Given the description of an element on the screen output the (x, y) to click on. 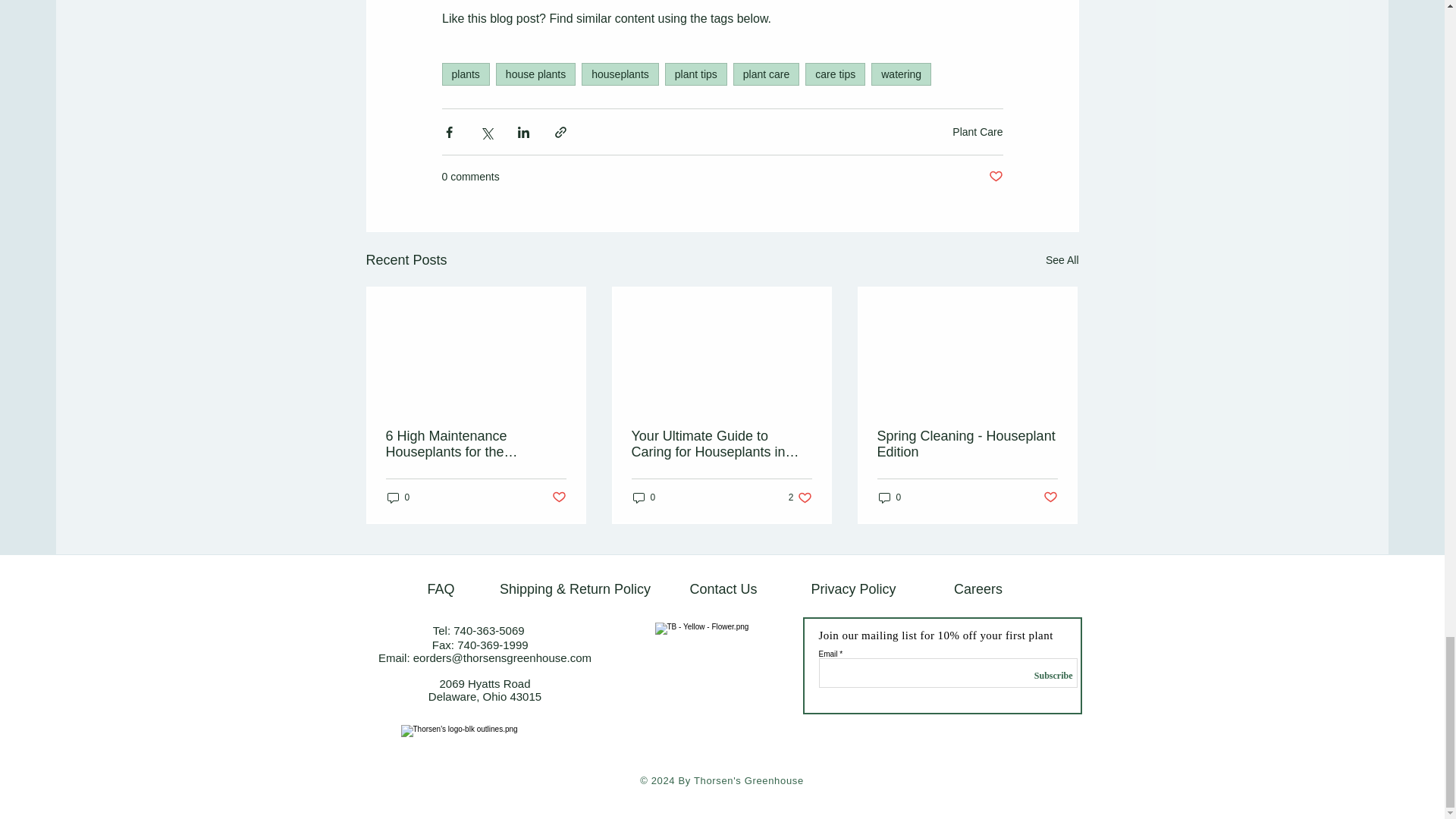
plant tips (695, 74)
care tips (834, 74)
houseplants (619, 74)
plants (465, 74)
watering (900, 74)
house plants (535, 74)
plant care (766, 74)
Plant Care (977, 132)
